Given the description of an element on the screen output the (x, y) to click on. 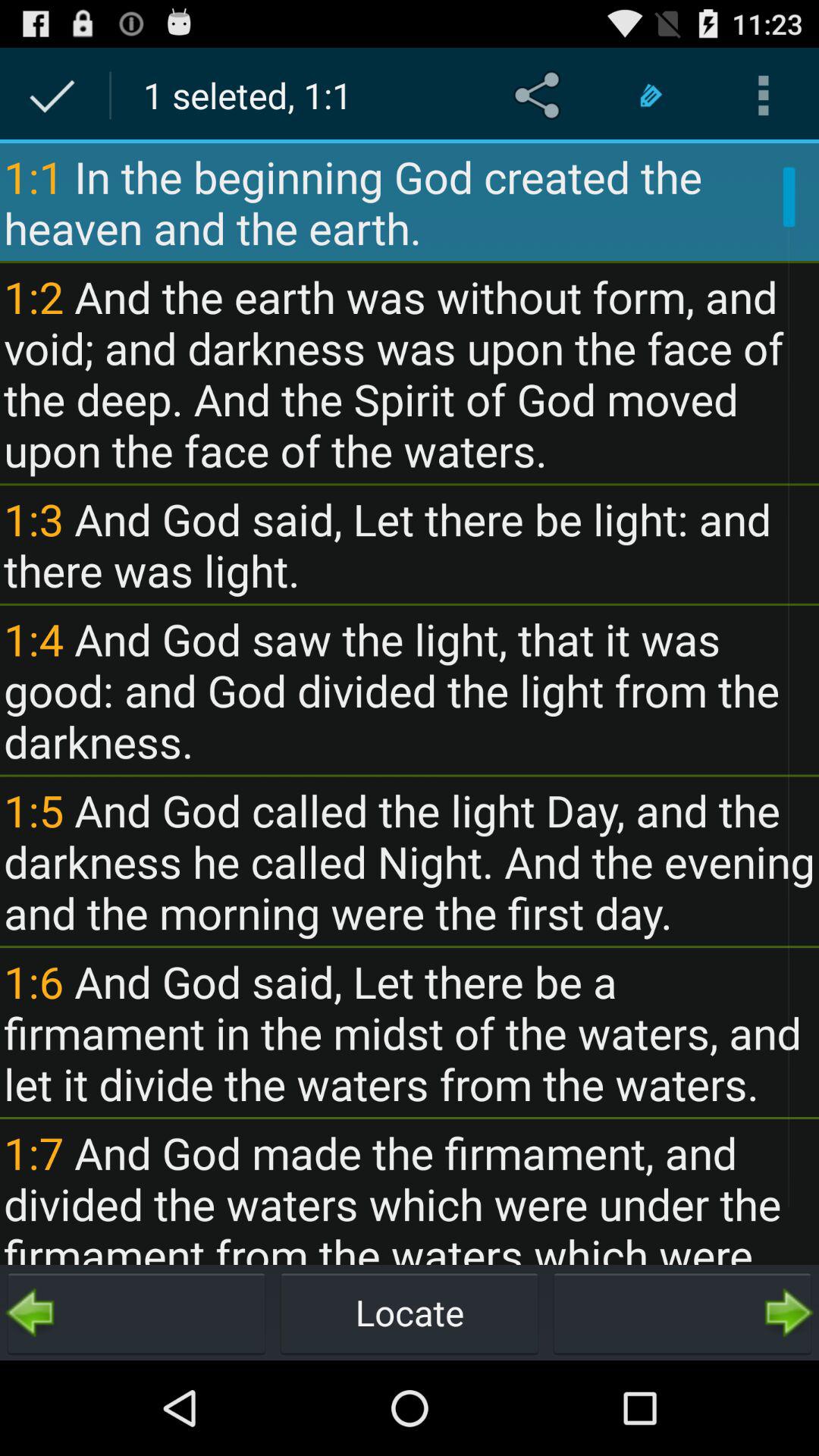
go back a page (136, 1312)
